Given the description of an element on the screen output the (x, y) to click on. 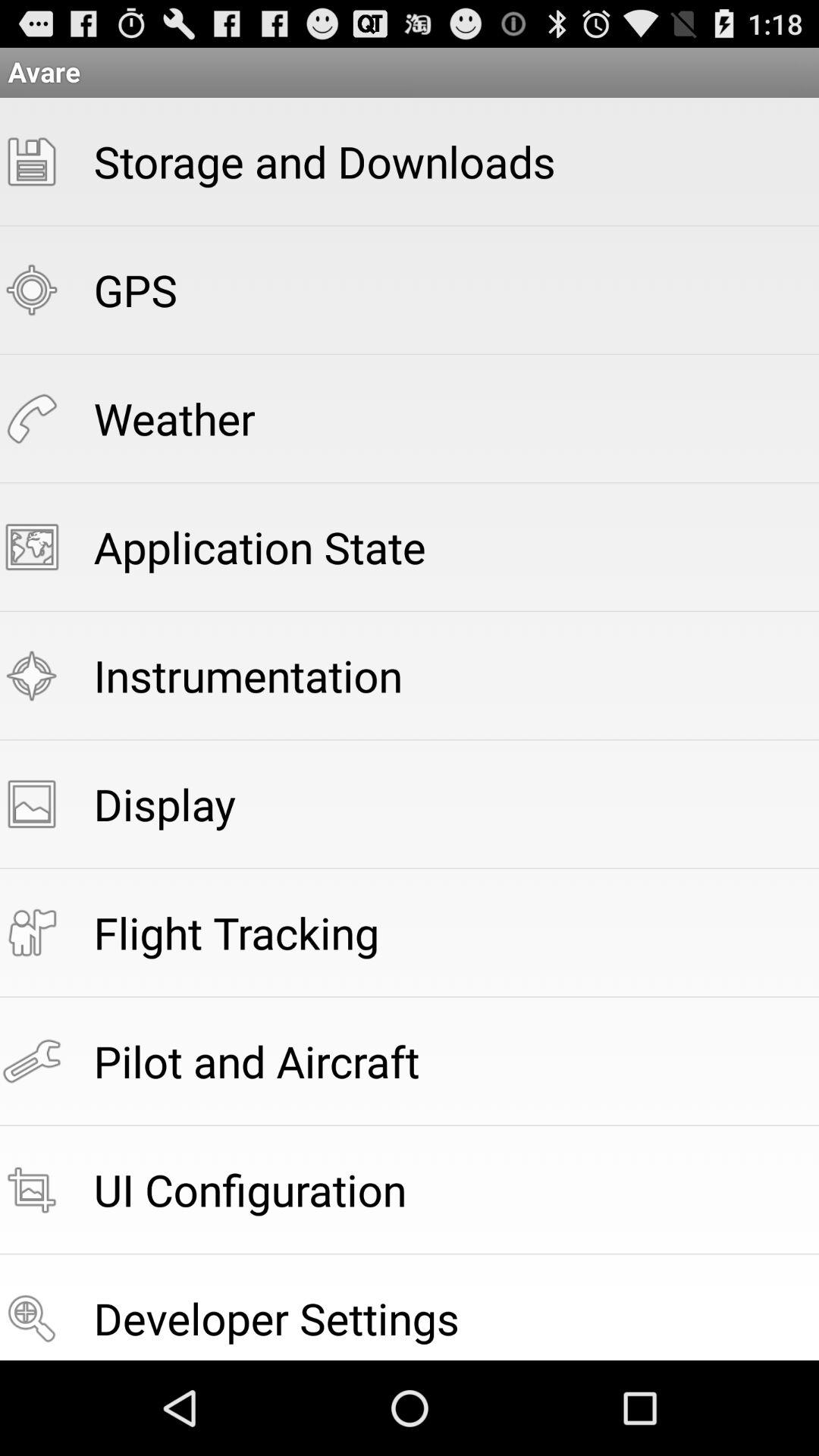
flip to the ui configuration app (249, 1189)
